Given the description of an element on the screen output the (x, y) to click on. 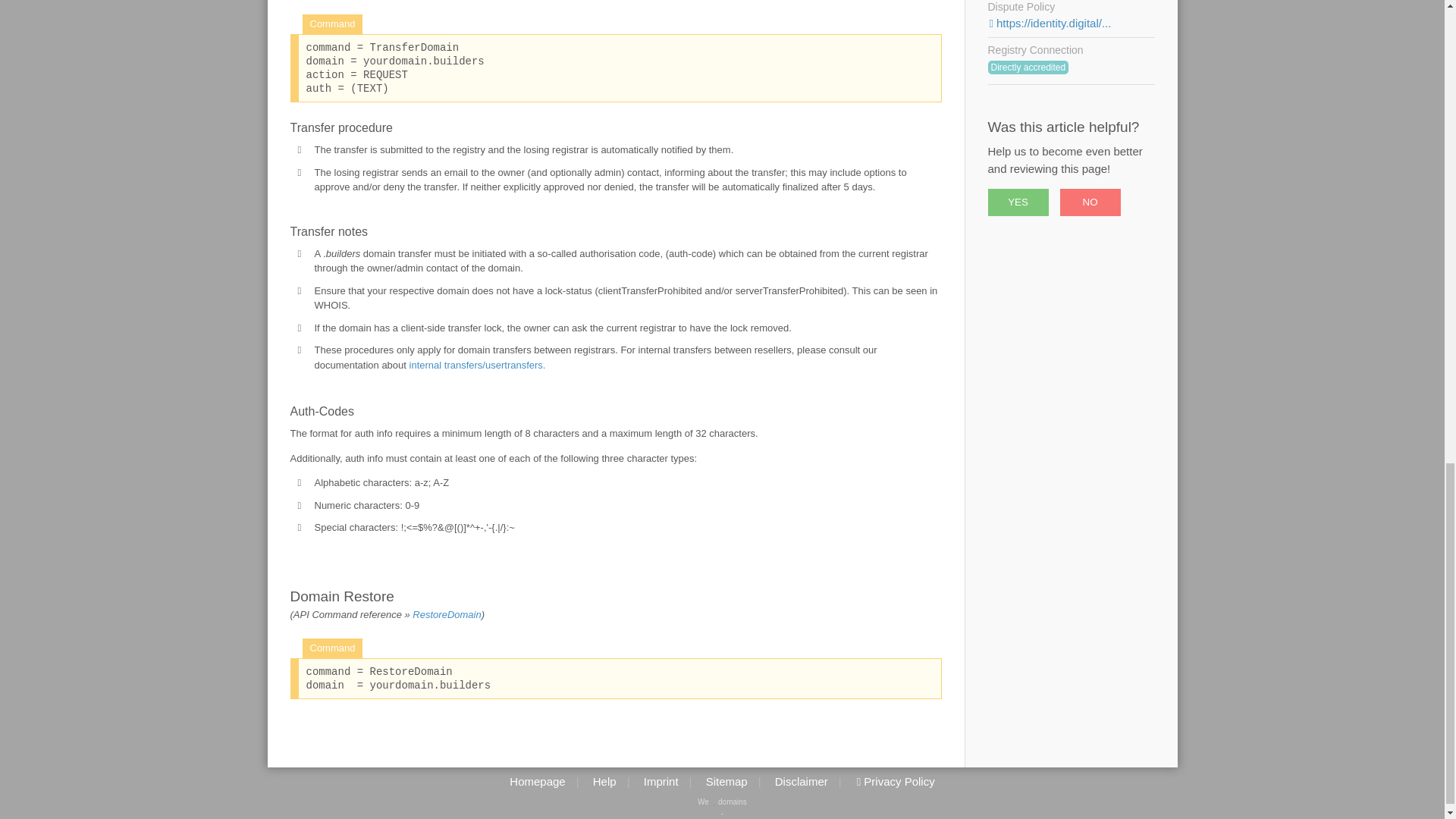
NO (1090, 202)
YES (1017, 202)
